Given the description of an element on the screen output the (x, y) to click on. 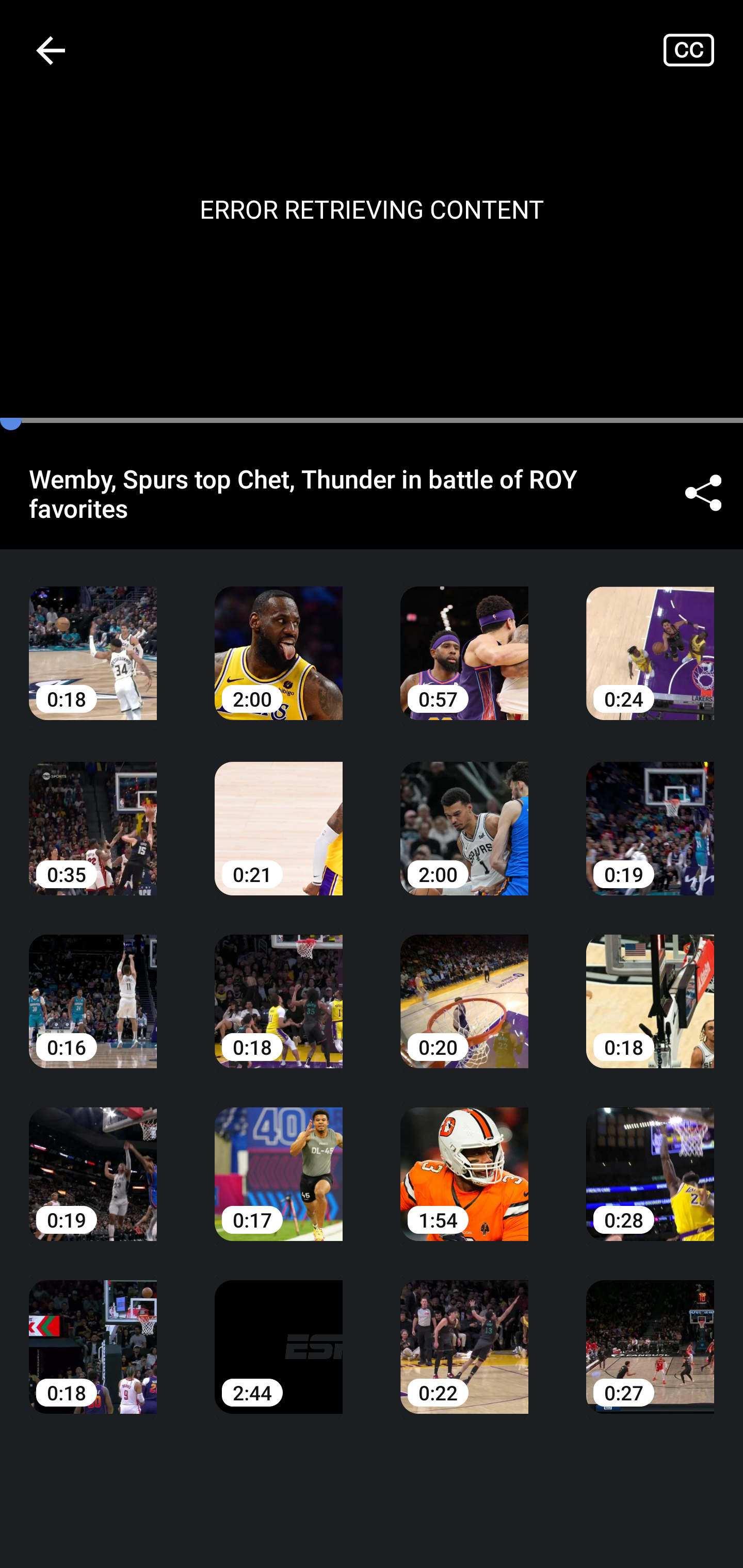
Navigate up (50, 50)
Closed captions  (703, 49)
Share © (703, 493)
0:18 (92, 637)
2:00 (278, 637)
0:57 (464, 637)
0:24 (650, 637)
0:35 (92, 813)
0:21 (278, 813)
2:00 (464, 813)
0:19 (650, 813)
0:16 (92, 987)
0:18 (278, 987)
0:20 (464, 987)
0:18 (650, 987)
0:19 (92, 1160)
0:17 (278, 1160)
1:54 (464, 1160)
0:28 (650, 1160)
0:18 (92, 1332)
2:44 (278, 1332)
0:22 (464, 1332)
0:27 (650, 1332)
